Given the description of an element on the screen output the (x, y) to click on. 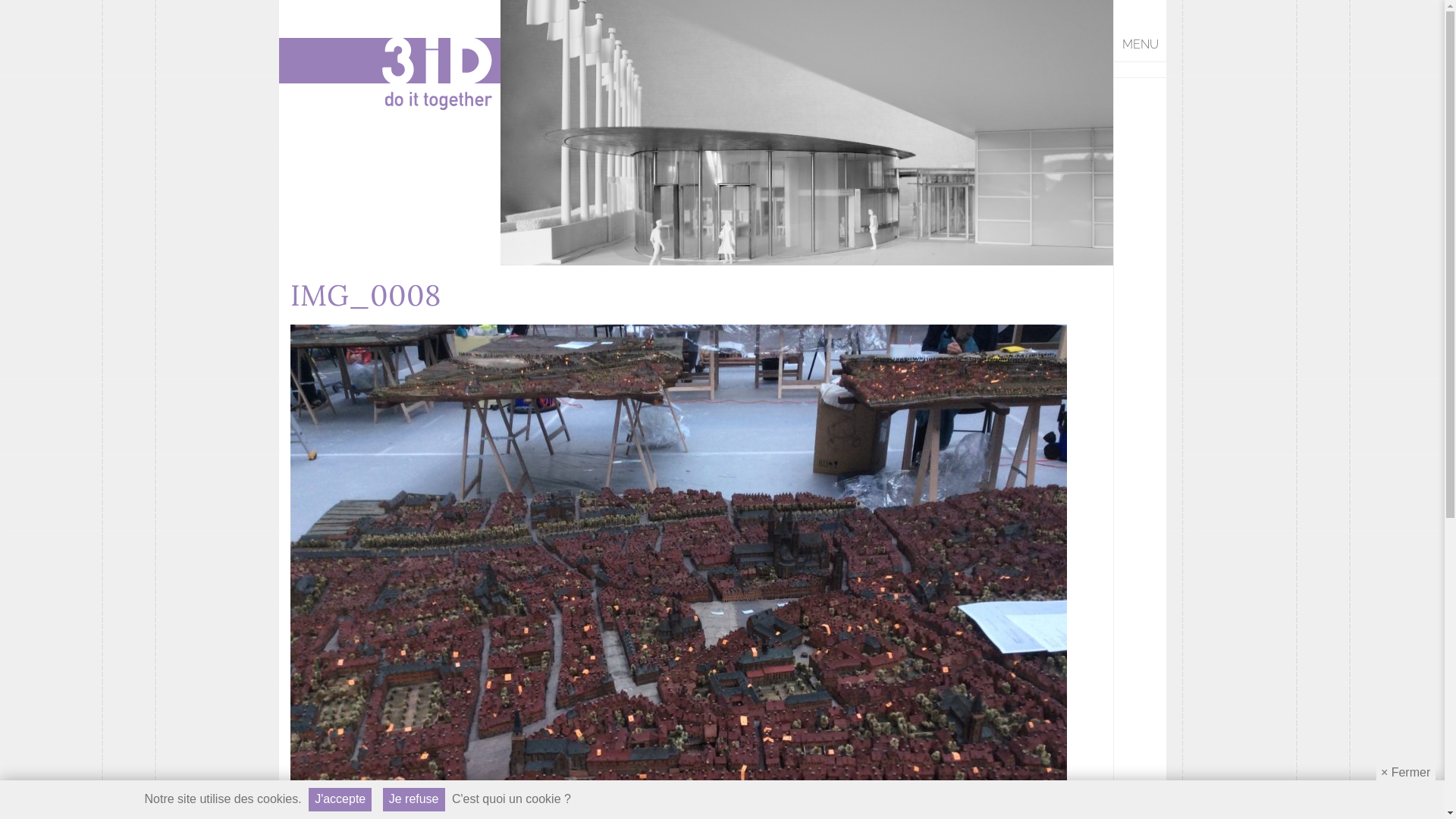
J'accepte Element type: text (339, 799)
C'est quoi un cookie ? Element type: text (511, 799)
Je refuse Element type: text (413, 799)
